Given the description of an element on the screen output the (x, y) to click on. 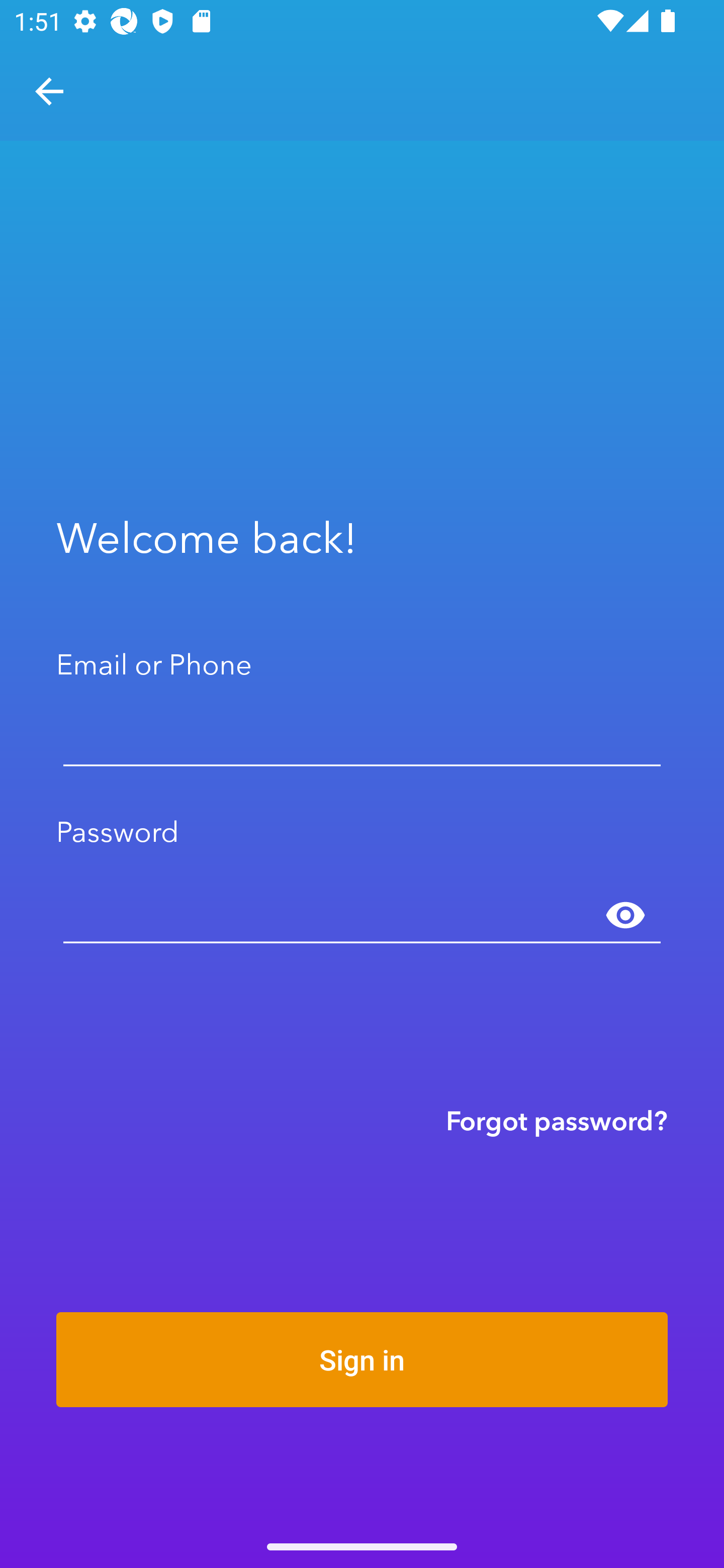
Navigate up (49, 91)
Show password (625, 915)
Forgot password? (556, 1119)
Sign in (361, 1359)
